Given the description of an element on the screen output the (x, y) to click on. 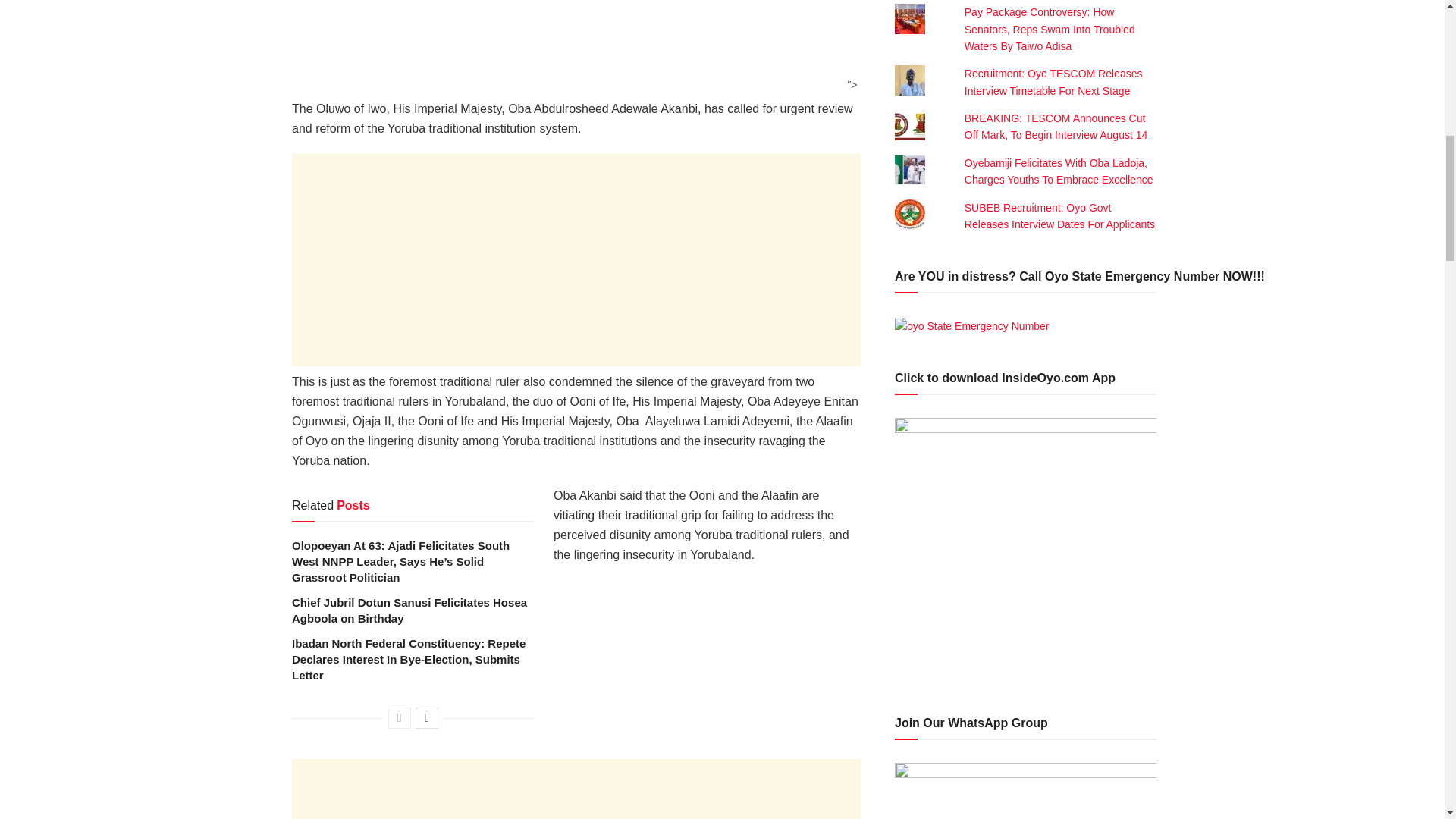
Next (426, 717)
Previous (399, 717)
Are YOU in distress? Call Oyo State Emergency Number NOW!!! (972, 325)
